Given the description of an element on the screen output the (x, y) to click on. 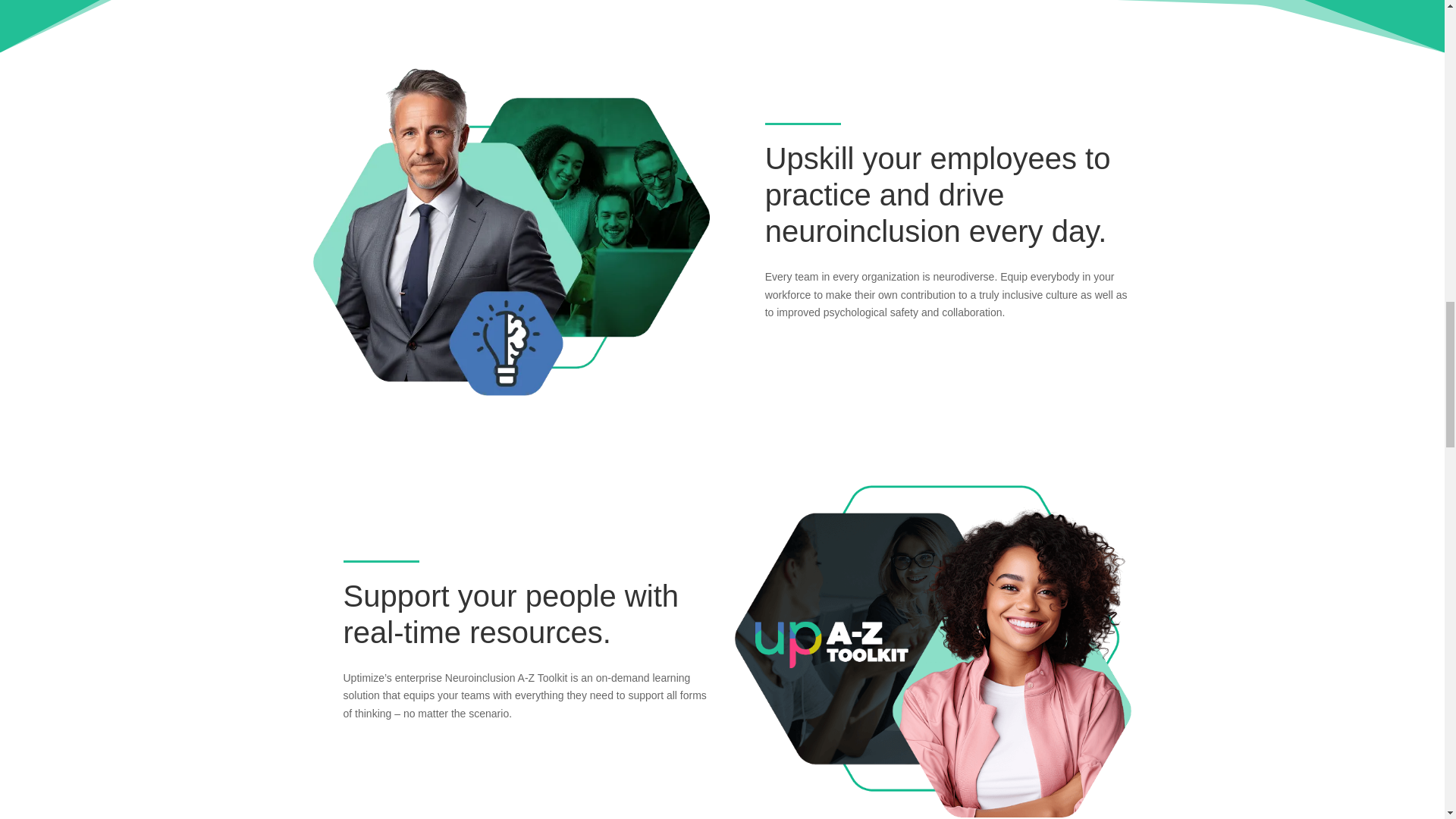
Upskill Employees (511, 231)
Support Teams (933, 651)
